Given the description of an element on the screen output the (x, y) to click on. 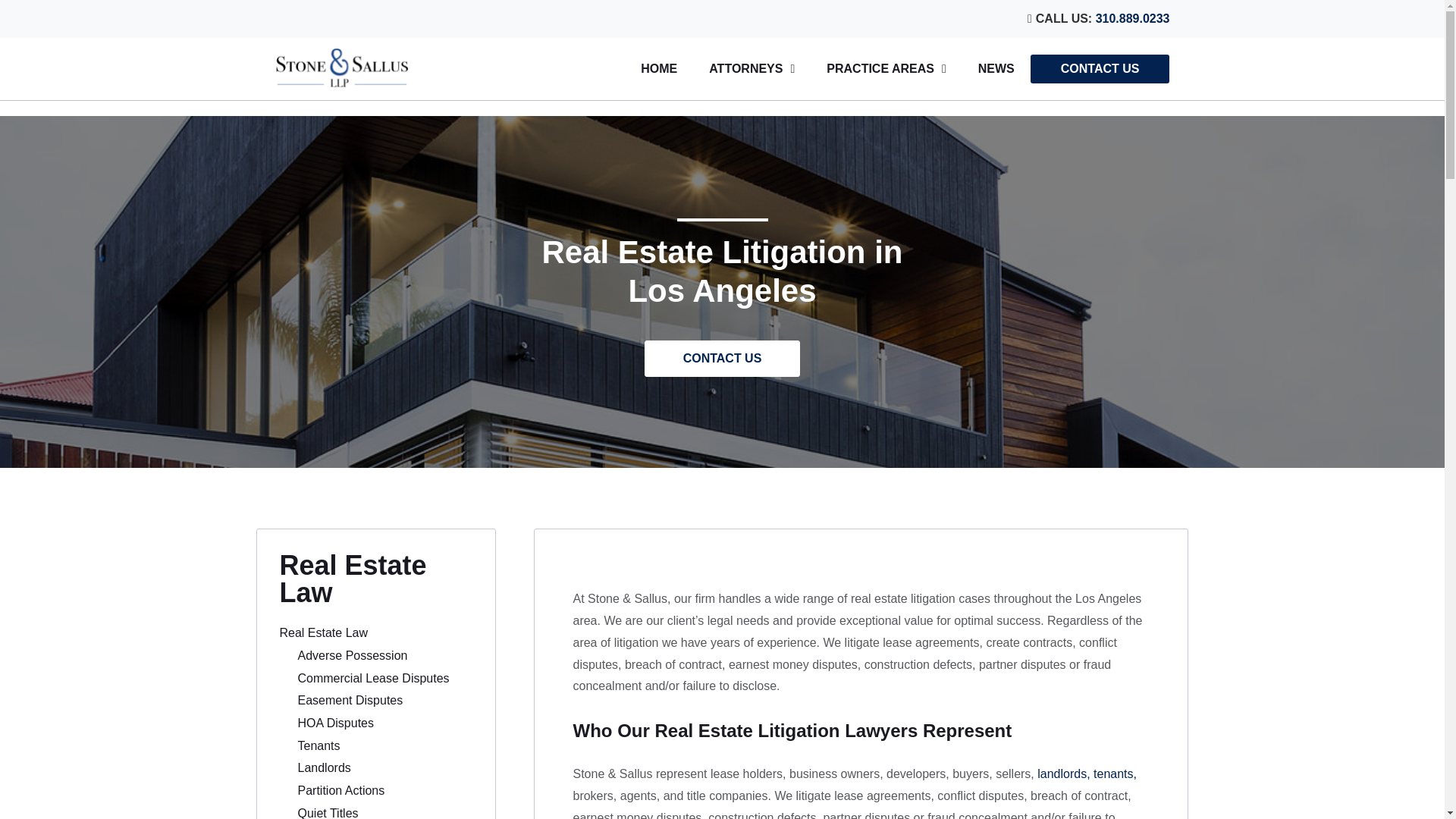
ATTORNEYS (751, 68)
CALL US: 310.889.0233 (722, 18)
HOME (658, 68)
PRACTICE AREAS (885, 68)
